Given the description of an element on the screen output the (x, y) to click on. 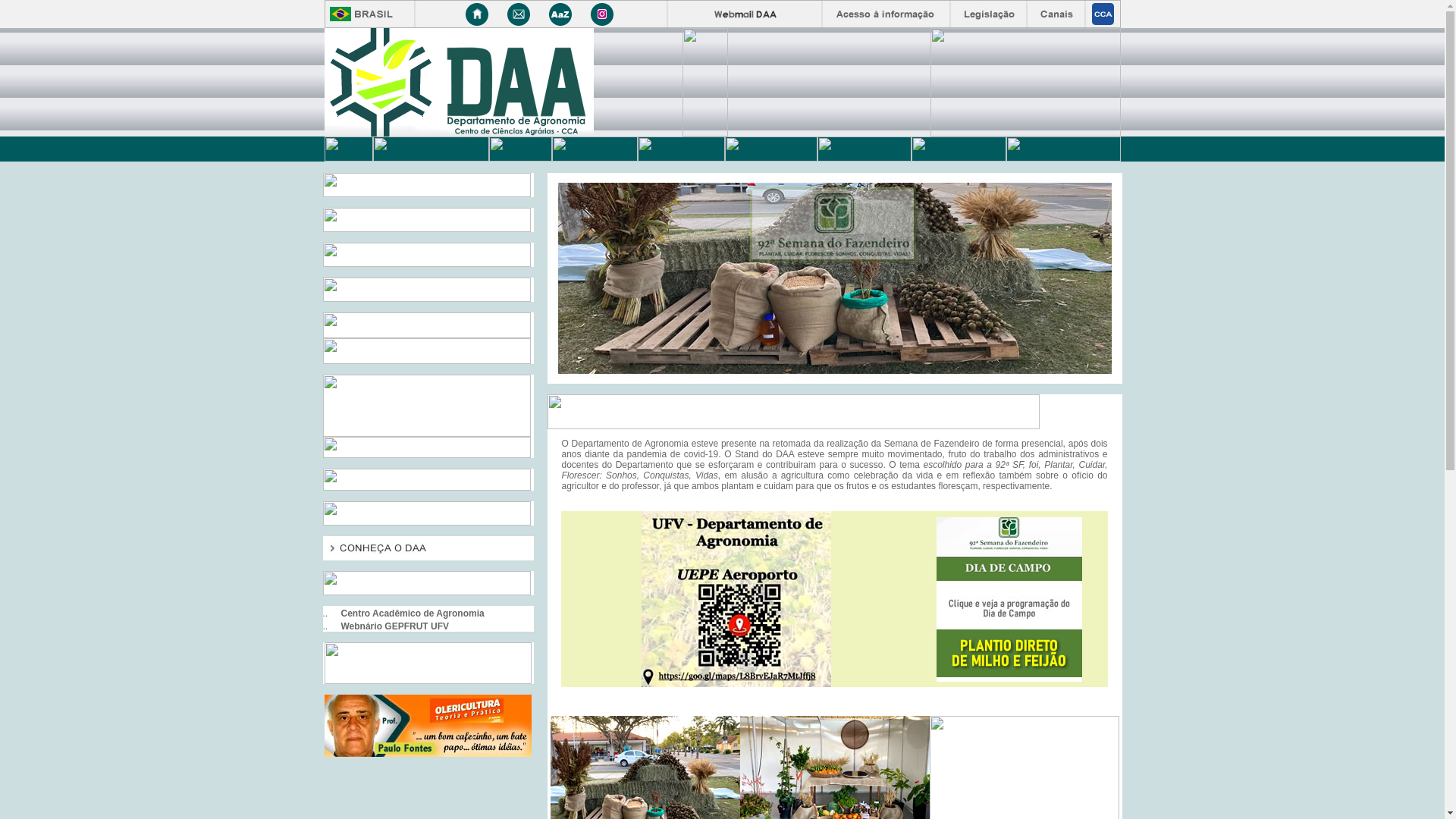
.. Element type: text (325, 626)
.. Element type: text (325, 613)
